Given the description of an element on the screen output the (x, y) to click on. 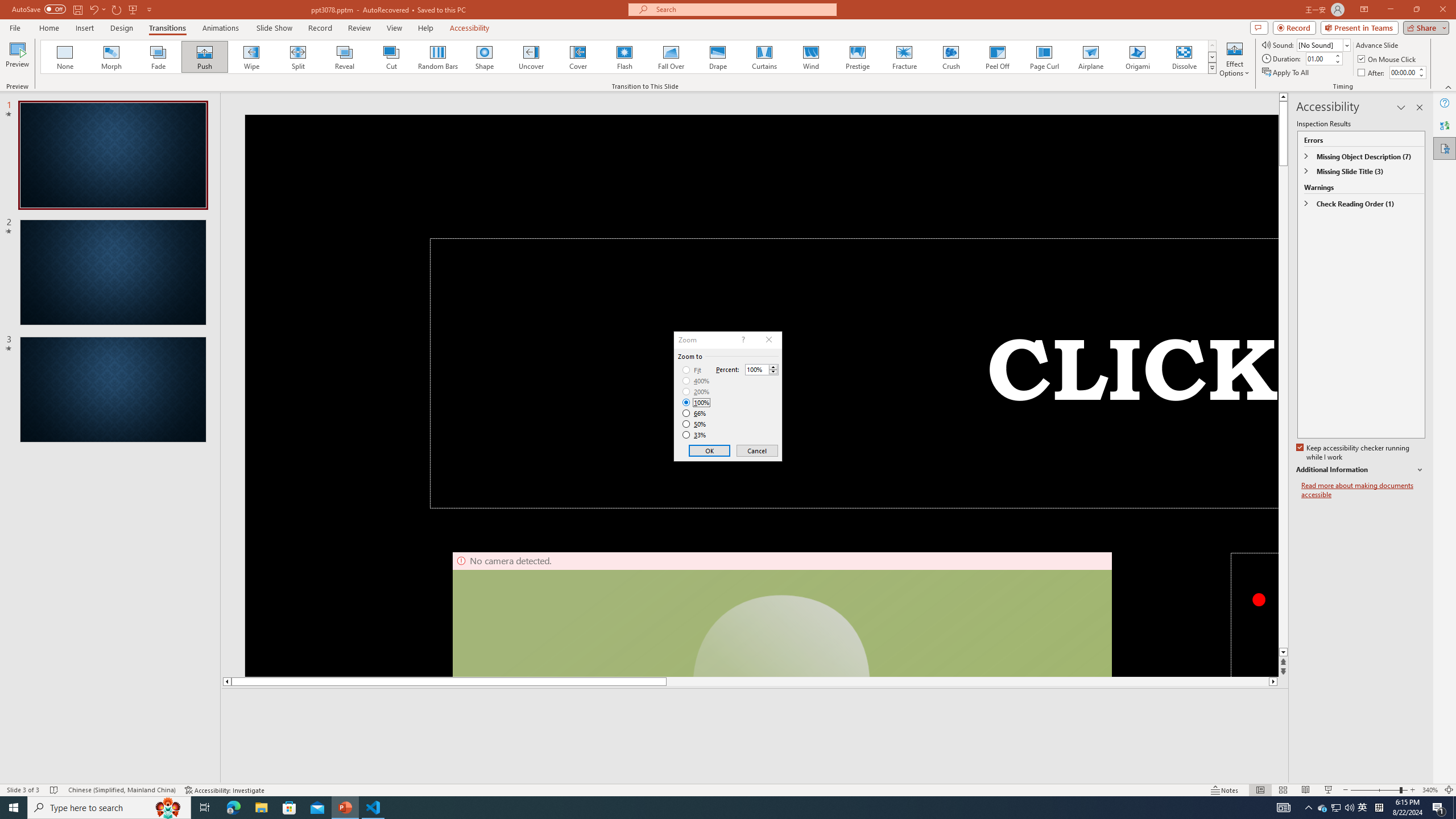
Uncover (531, 56)
Microsoft Edge (233, 807)
Apply To All (1286, 72)
Wind (810, 56)
Read more about making documents accessible (1363, 489)
Wipe (251, 56)
